Given the description of an element on the screen output the (x, y) to click on. 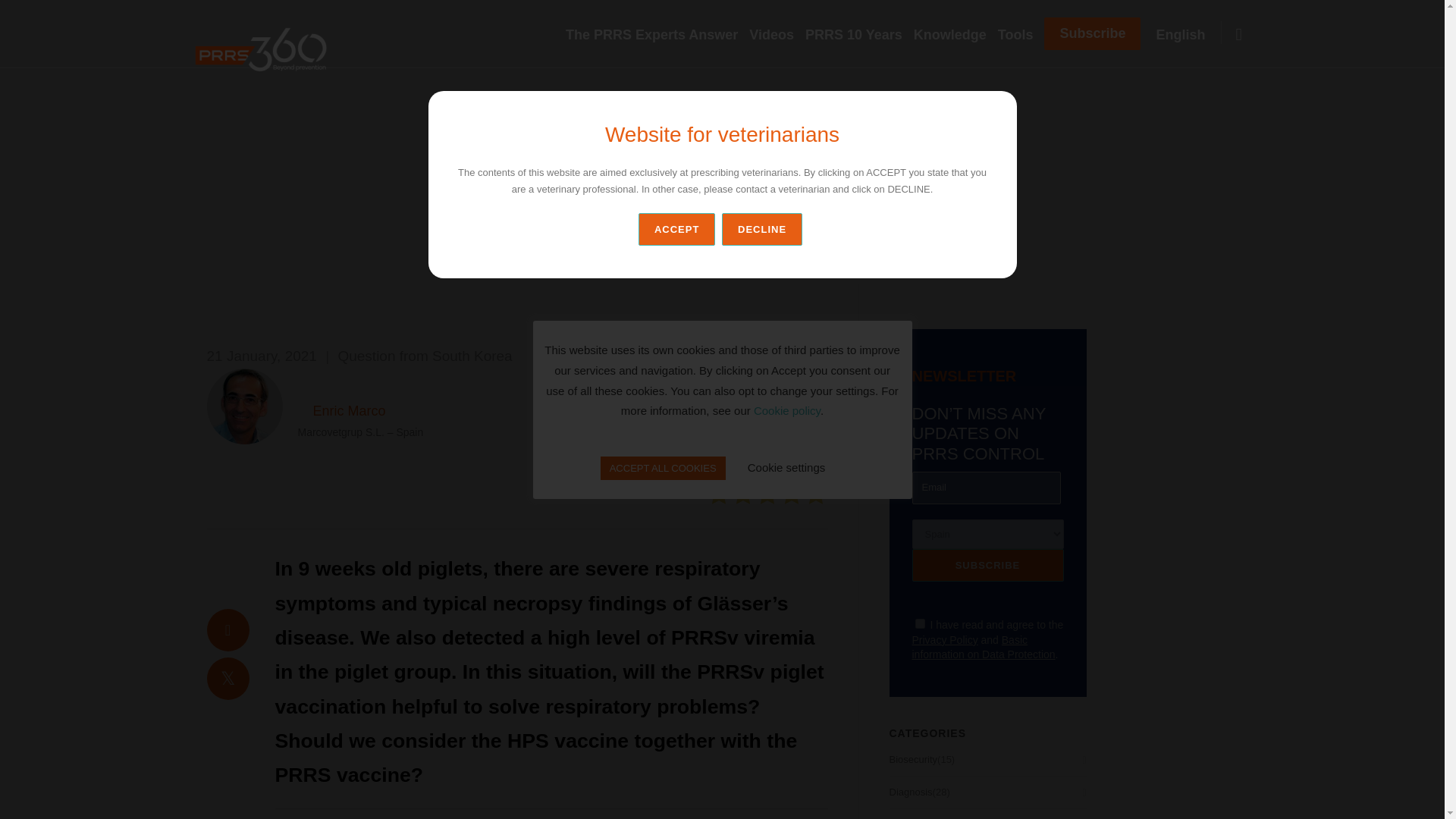
Subscribe (986, 564)
DECLINE (764, 229)
1 (919, 623)
Knowledge (955, 35)
The PRRS Experts Answer (657, 35)
English (1185, 35)
Tools (1021, 35)
PRRS 10 Years (859, 35)
Videos (777, 35)
Subscribe (1091, 33)
ACCEPT (676, 228)
DECLINE (762, 228)
English (1185, 35)
